Given the description of an element on the screen output the (x, y) to click on. 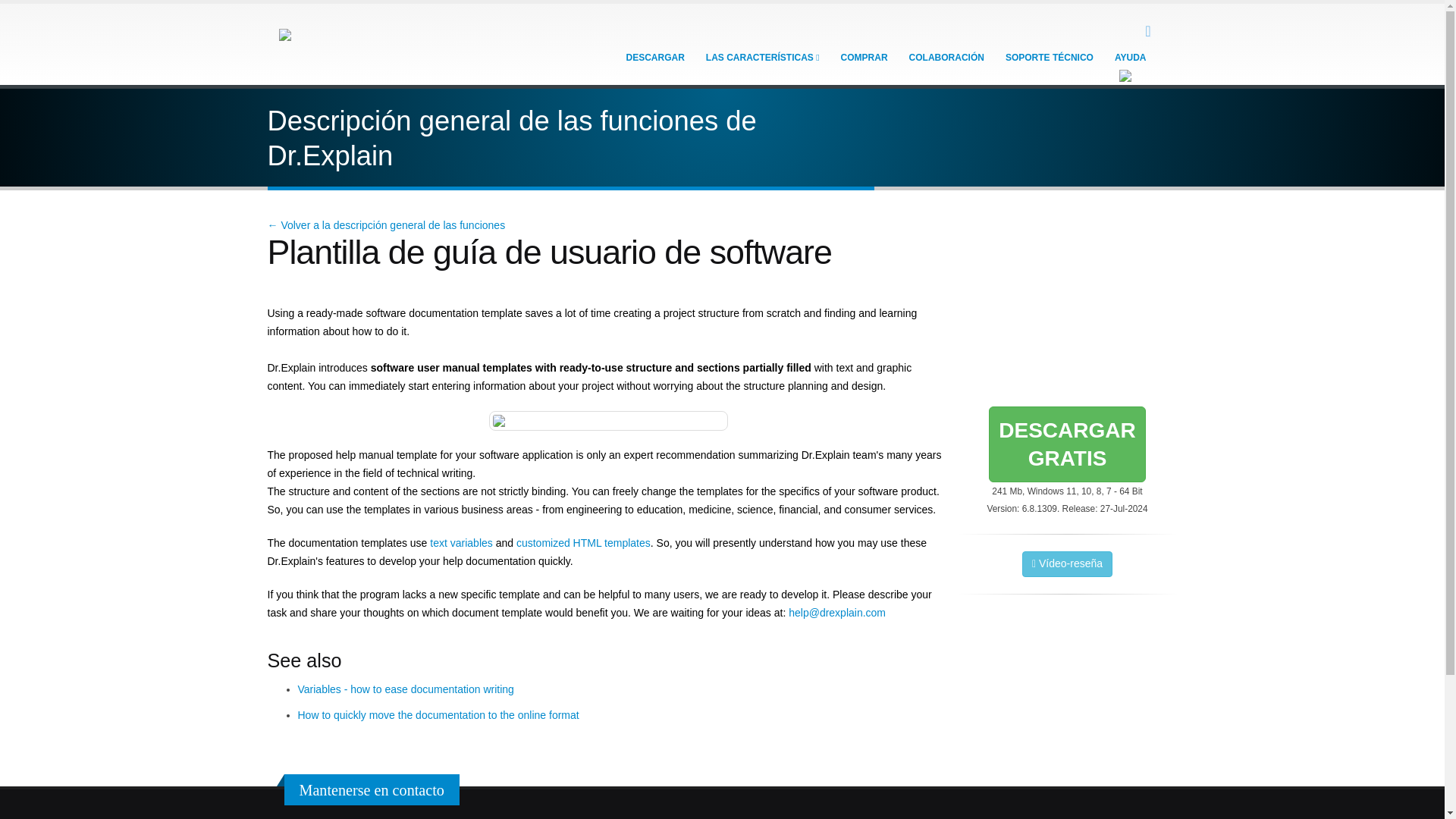
text variables (1066, 444)
How to quickly move the documentation to the online format (460, 542)
Variables - how to ease documentation writing (437, 715)
DESCARGAR (405, 689)
AYUDA (654, 57)
Download Dr.Explain (1130, 57)
COMPRAR (1066, 444)
customized HTML templates (864, 57)
